Given the description of an element on the screen output the (x, y) to click on. 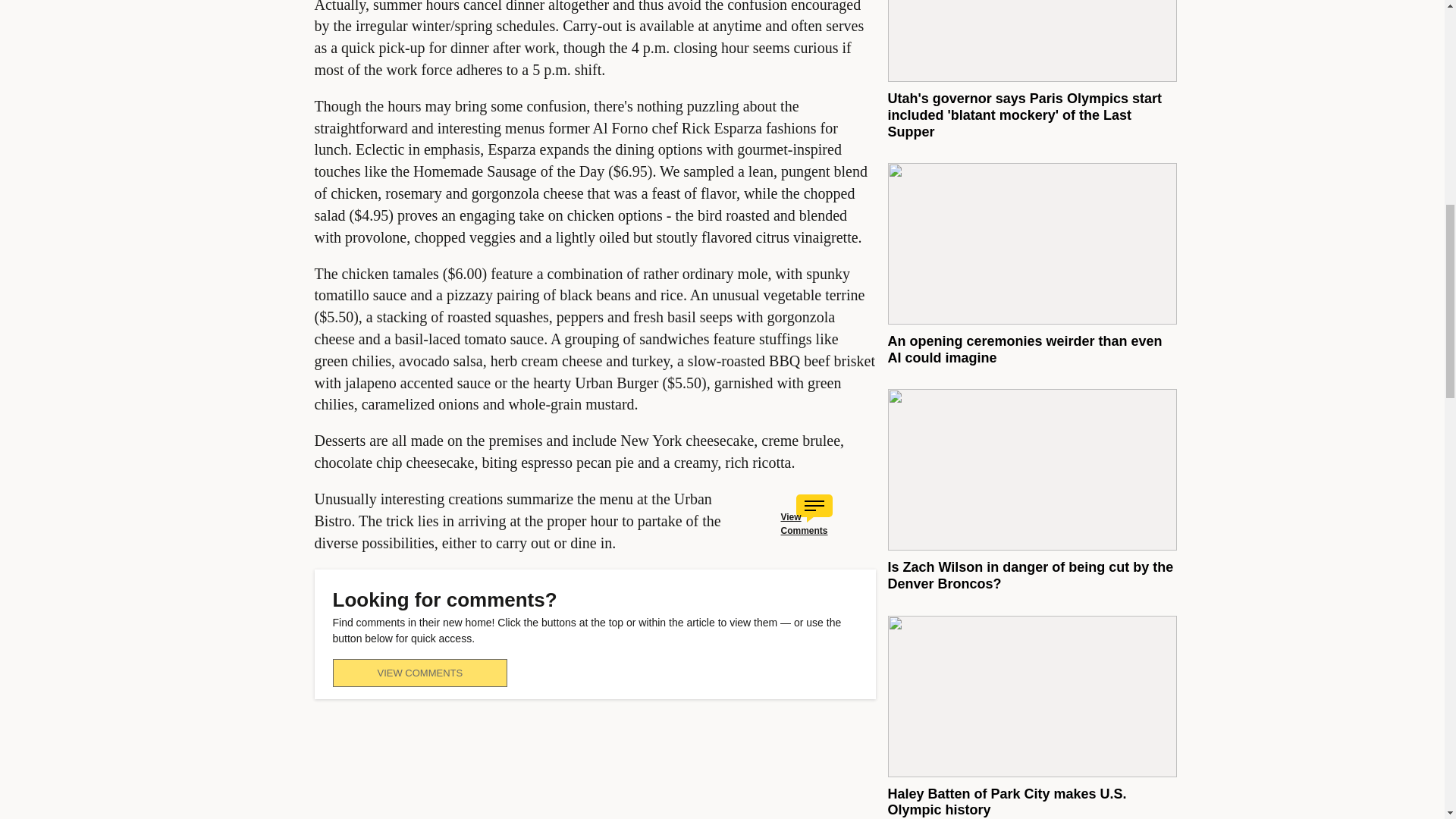
VIEW COMMENTS (418, 673)
Haley Batten of Park City makes U.S. Olympic history (1005, 802)
An opening ceremonies weirder than even AI could imagine (1023, 349)
Is Zach Wilson in danger of being cut by the Denver Broncos? (1029, 575)
